Given the description of an element on the screen output the (x, y) to click on. 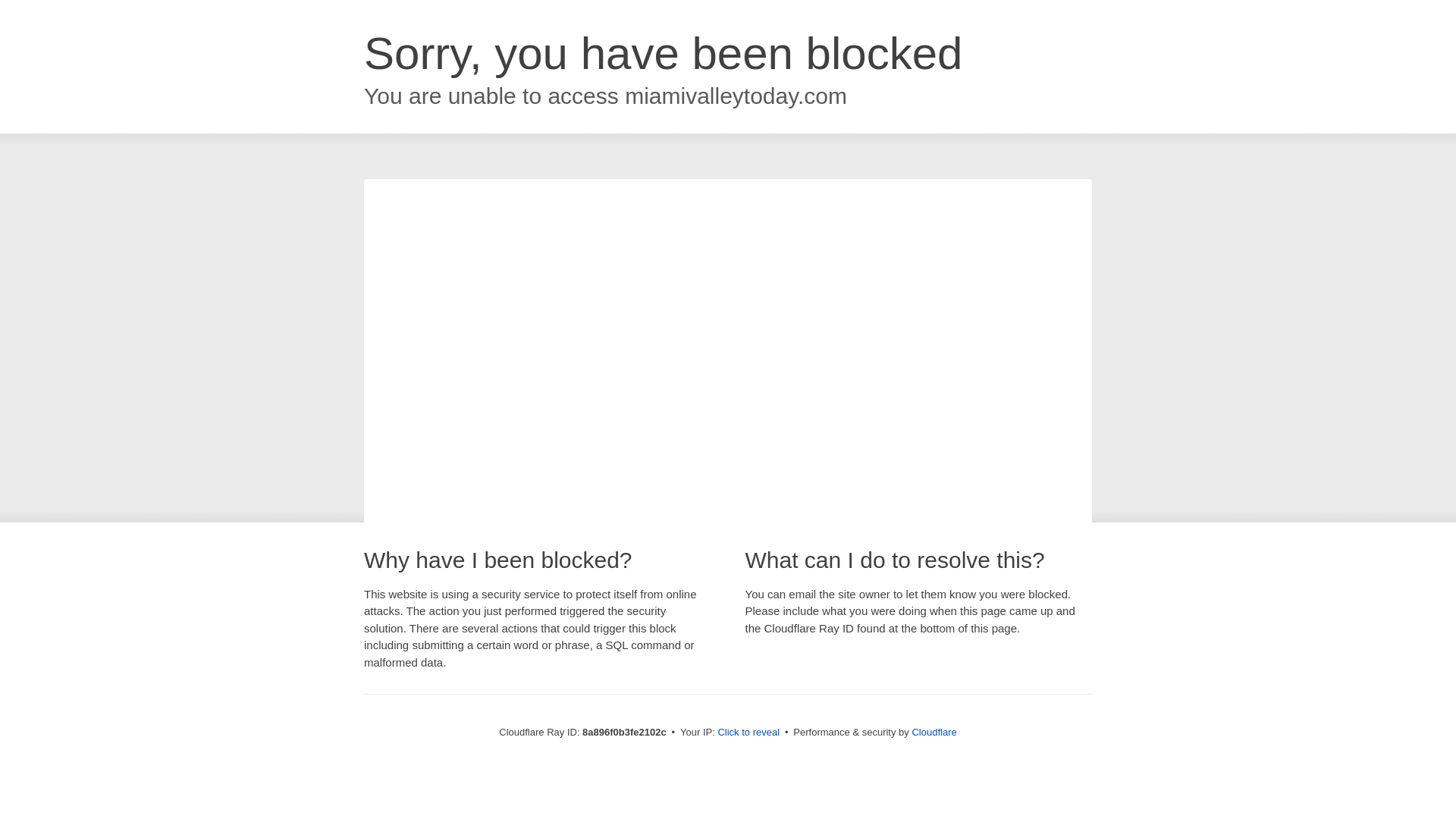
Click to reveal (747, 732)
Cloudflare (933, 731)
